Given the description of an element on the screen output the (x, y) to click on. 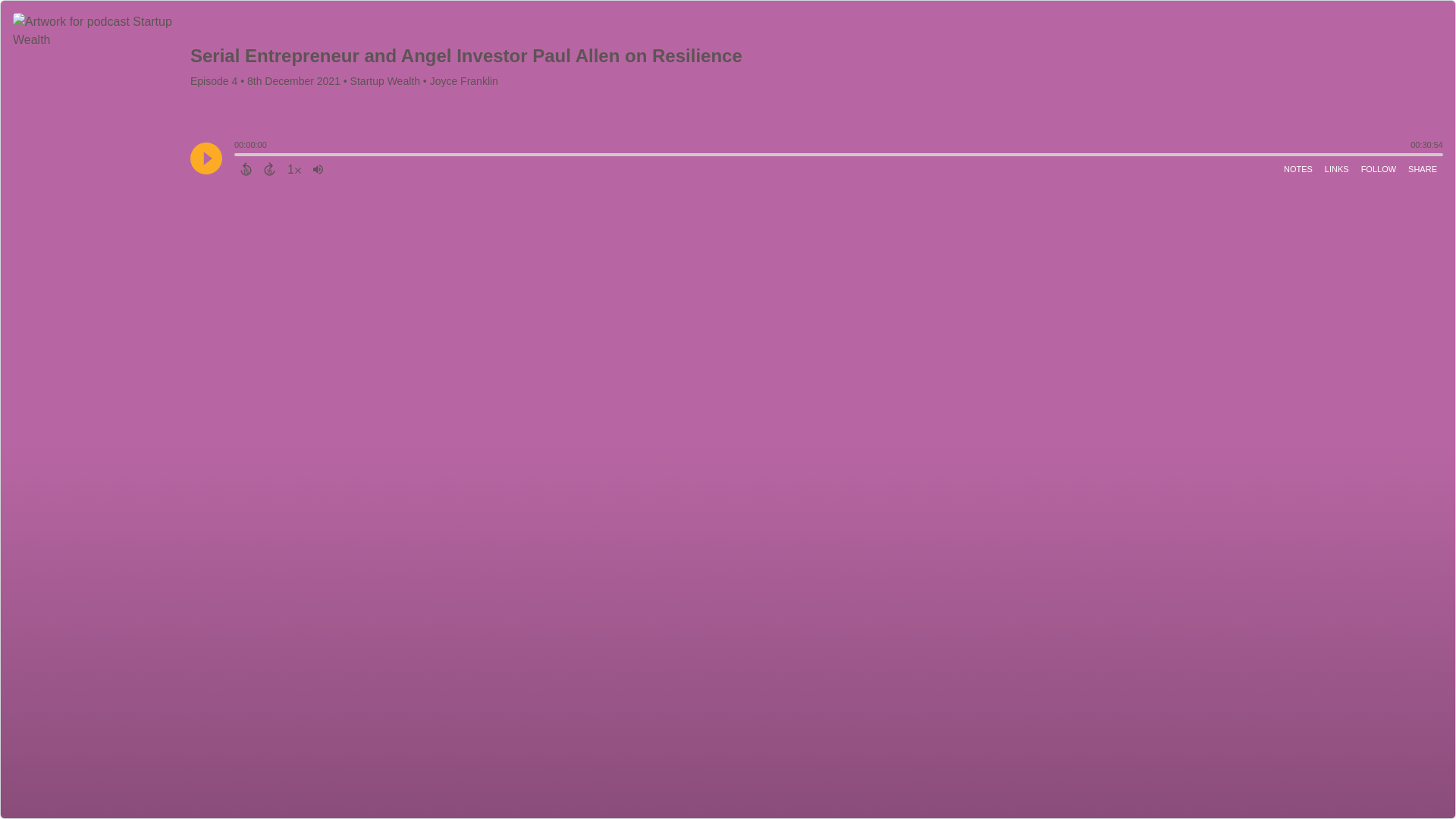
FOLLOW (1378, 168)
SHARE (1422, 168)
NOTES (1298, 168)
1 (294, 168)
LINKS (1337, 168)
